Given the description of an element on the screen output the (x, y) to click on. 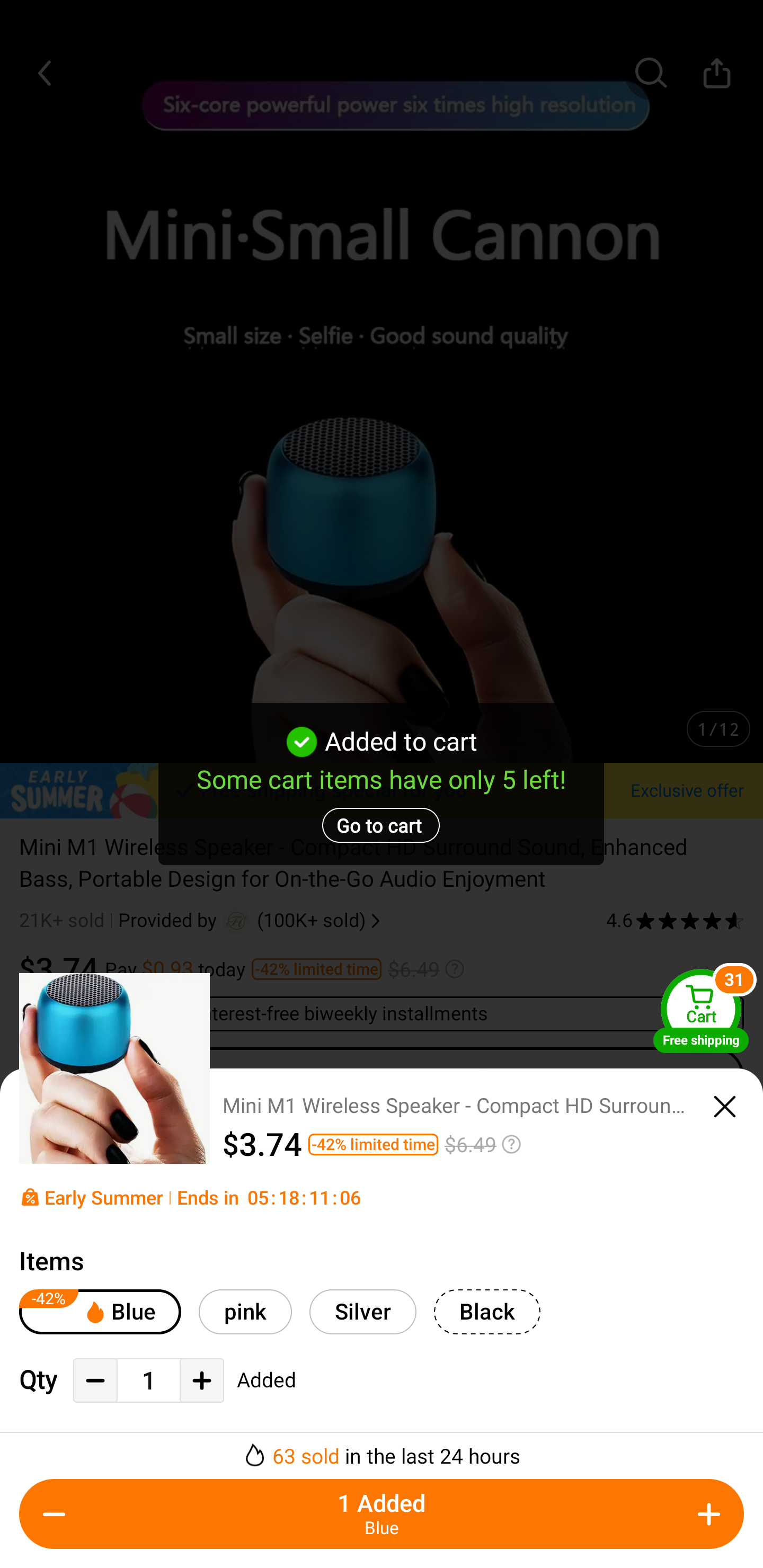
Cart Free shipping Cart (701, 1010)
close (724, 1106)
  Blue (100, 1311)
 pink (245, 1311)
 Silver (362, 1311)
 Black (487, 1311)
Decrease Quantity Button (95, 1380)
Add Quantity Button (201, 1380)
1 (148, 1381)
￼￼63 sold in the last 24 hours (381, 1450)
Decrease Quantity Button (54, 1513)
1 Added Blue (381, 1513)
Add Quantity Button (708, 1513)
